Given the description of an element on the screen output the (x, y) to click on. 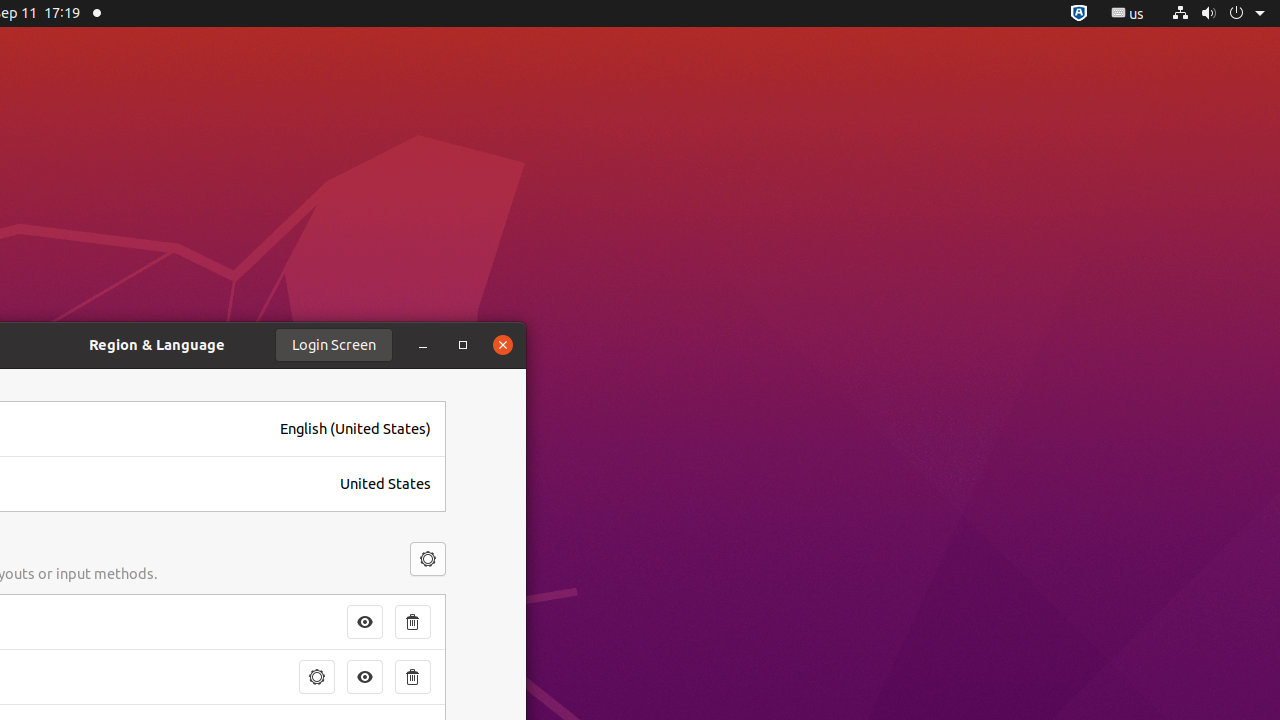
United States Element type: label (385, 484)
Close Element type: push-button (503, 345)
Maximize Element type: push-button (463, 345)
Minimize Element type: push-button (423, 345)
English (United States) Element type: label (355, 429)
